Given the description of an element on the screen output the (x, y) to click on. 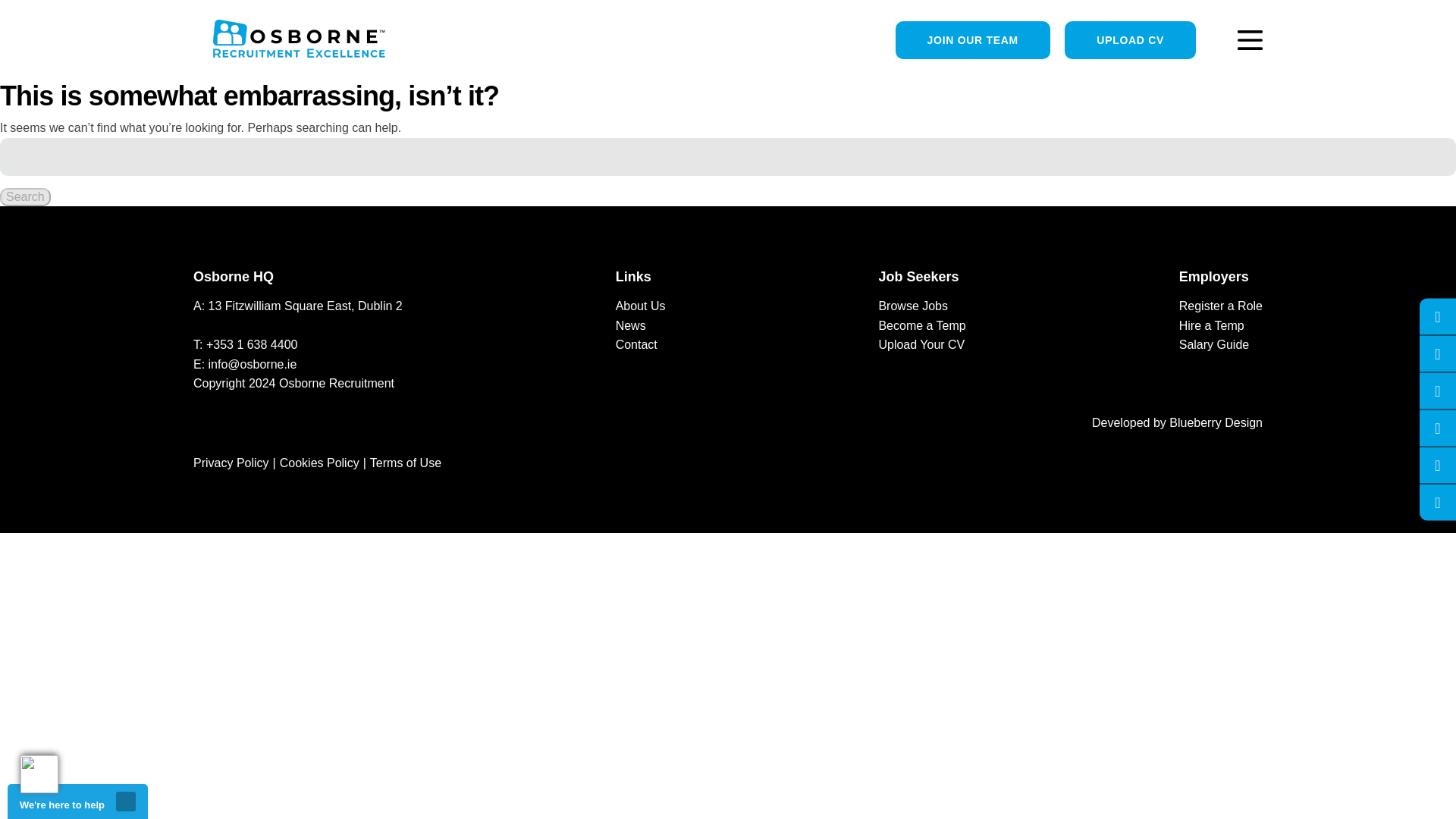
Search (25, 197)
Browse Jobs (912, 305)
Blueberry Design (1215, 422)
JOIN OUR TEAM (972, 39)
About Us (640, 305)
Become a Temp (921, 325)
News (630, 325)
Hire a Temp (1211, 325)
Search (25, 197)
Cookies Policy (319, 462)
